Given the description of an element on the screen output the (x, y) to click on. 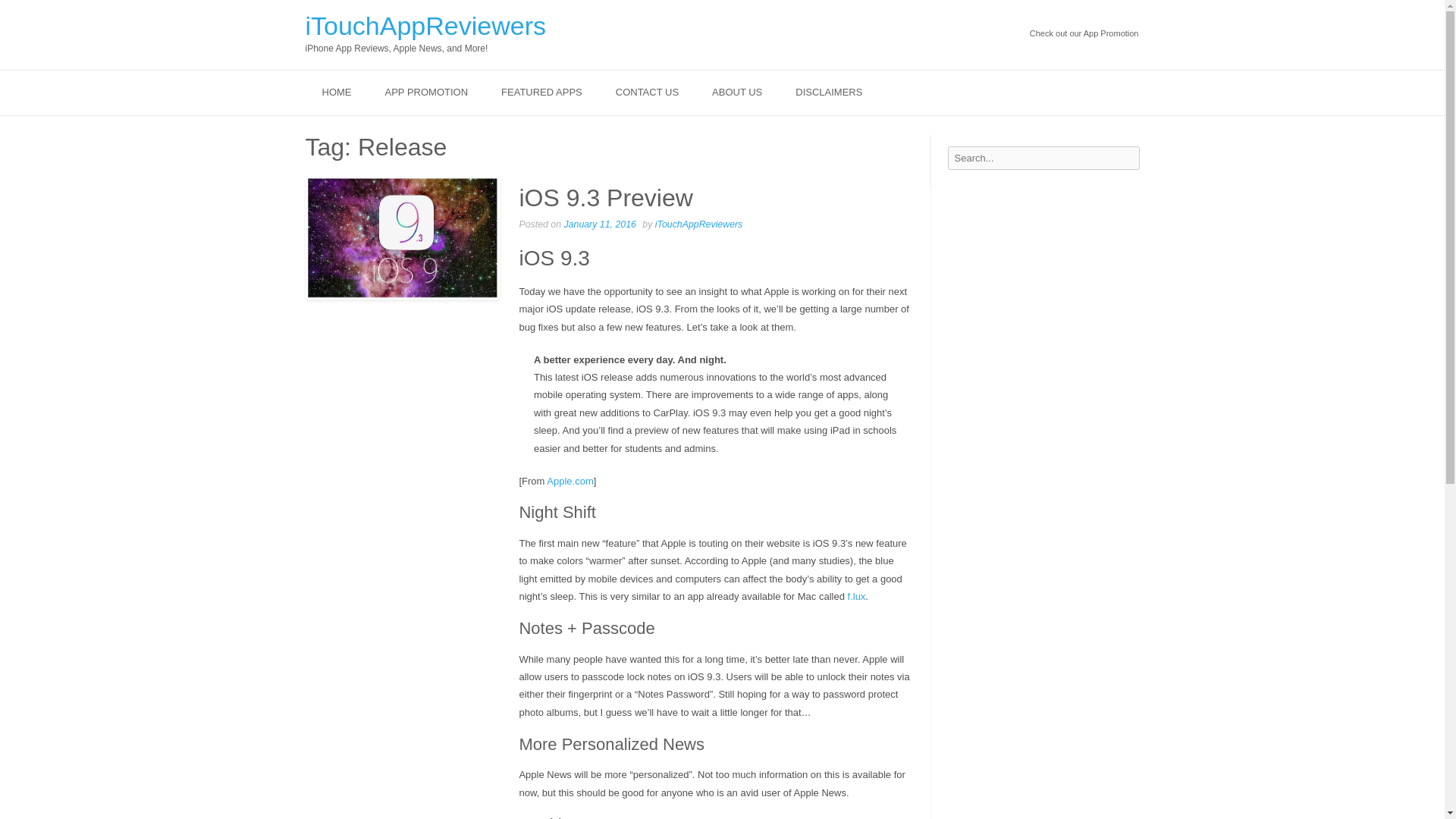
APP PROMOTION (426, 92)
ABOUT US (736, 92)
iTouchAppReviewers (698, 224)
Search for: (1043, 157)
iTouchAppReviewers (425, 25)
Apple.com (569, 480)
iTouchAppReviewers (425, 25)
HOME (336, 92)
CONTACT US (646, 92)
iOS 9.3 Preview (605, 197)
January 11, 2016 (598, 224)
DISCLAIMERS (828, 92)
f.lux (856, 595)
FEATURED APPS (541, 92)
